Given the description of an element on the screen output the (x, y) to click on. 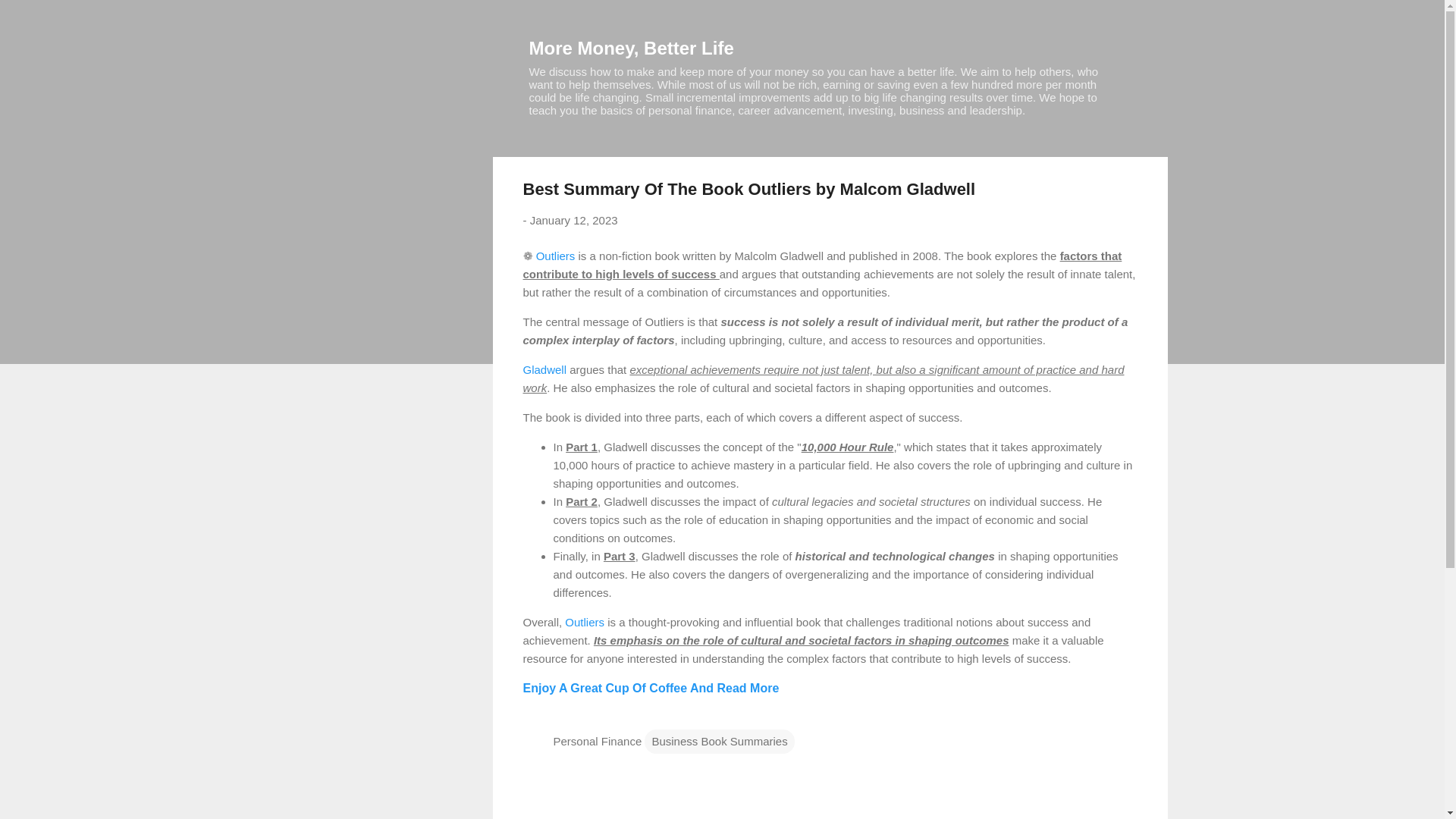
Outliers (555, 254)
Outliers (584, 621)
Enjoy A Great Cup Of Coffee And Read More (650, 686)
January 12, 2023 (573, 219)
Gladwell (544, 368)
Business Book Summaries (719, 741)
More Money, Better Life (631, 47)
Search (29, 18)
permanent link (573, 219)
